Given the description of an element on the screen output the (x, y) to click on. 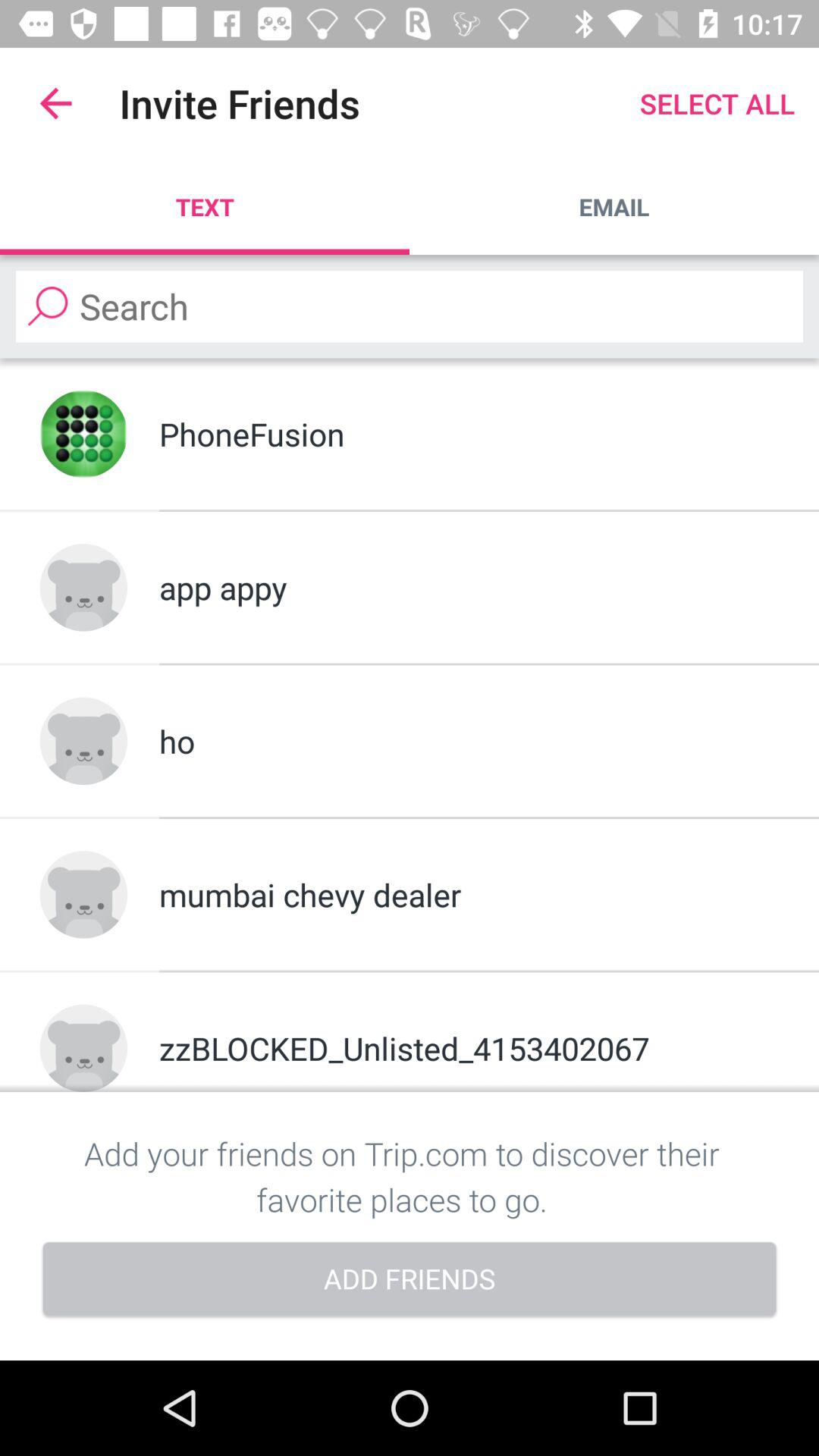
select the item next to invite friends icon (55, 103)
